Given the description of an element on the screen output the (x, y) to click on. 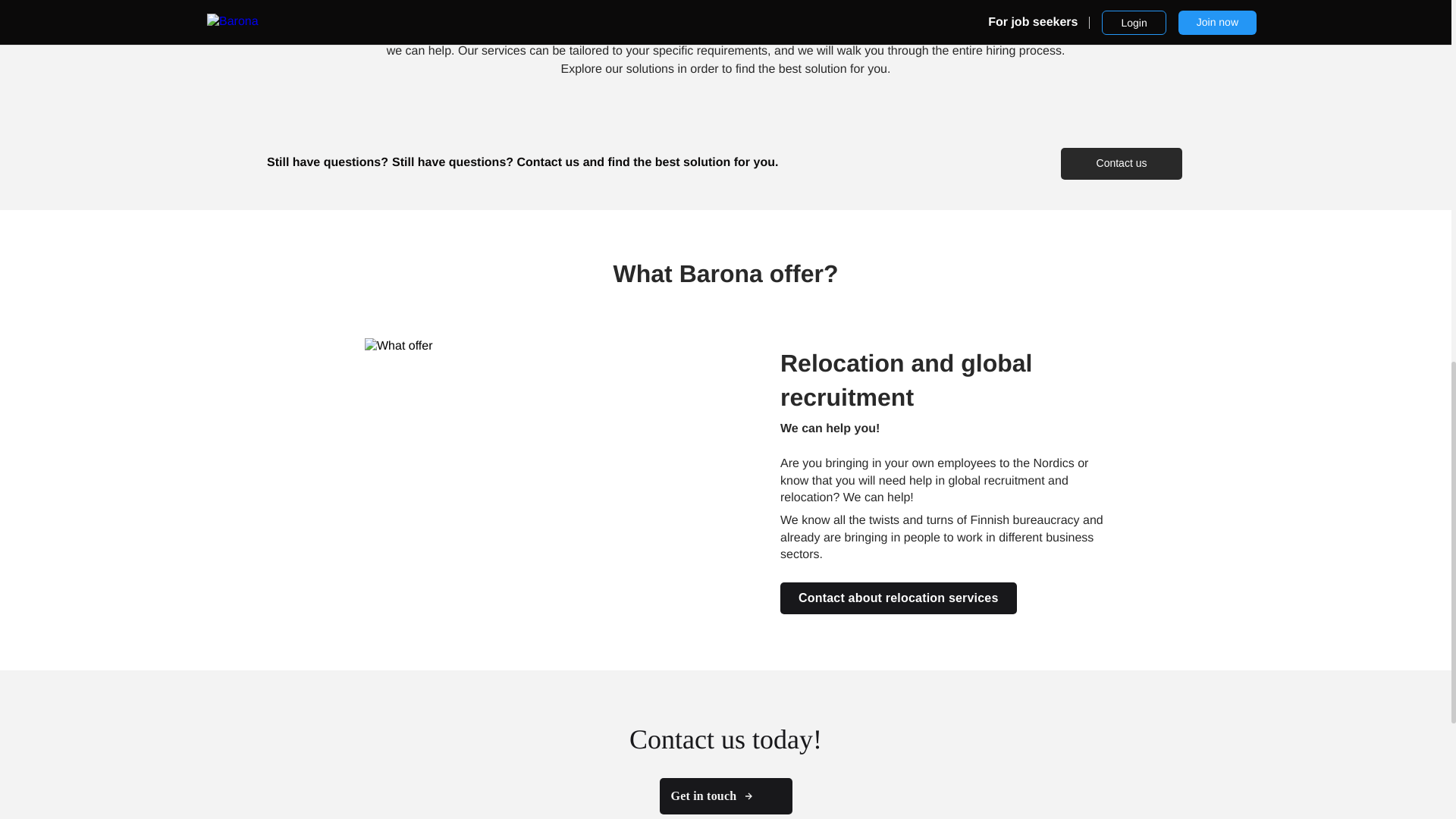
Get in touch (725, 796)
Contact us (1121, 163)
Contact about relocation services (898, 598)
